Given the description of an element on the screen output the (x, y) to click on. 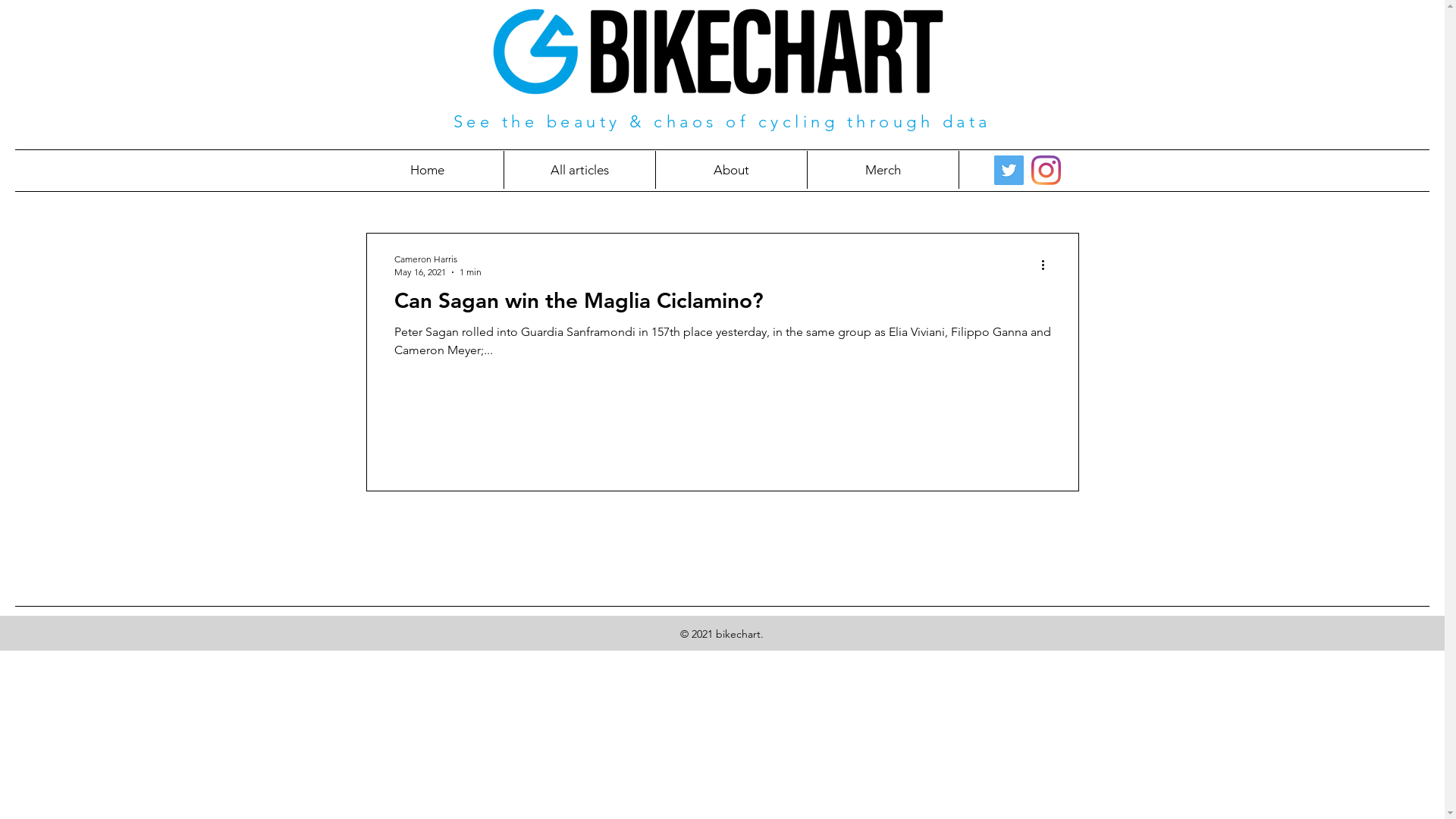
Merch Element type: text (882, 169)
All articles Element type: text (579, 169)
Can Sagan win the Maglia Ciclamino? Element type: text (722, 304)
Home Element type: text (426, 169)
Cameron Harris Element type: text (437, 258)
Bike-Chart-Logo.png Element type: hover (716, 51)
About Element type: text (730, 169)
